Given the description of an element on the screen output the (x, y) to click on. 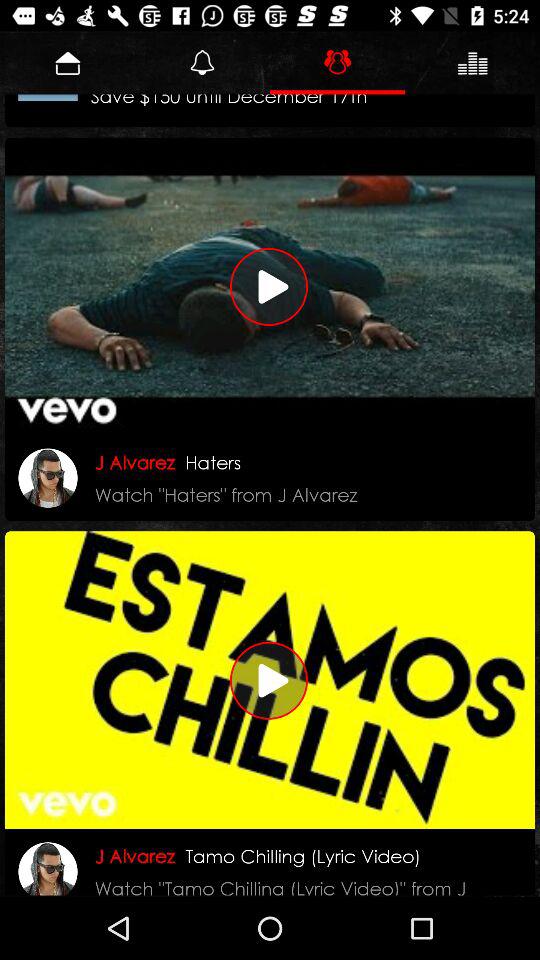
play the video (269, 680)
